Given the description of an element on the screen output the (x, y) to click on. 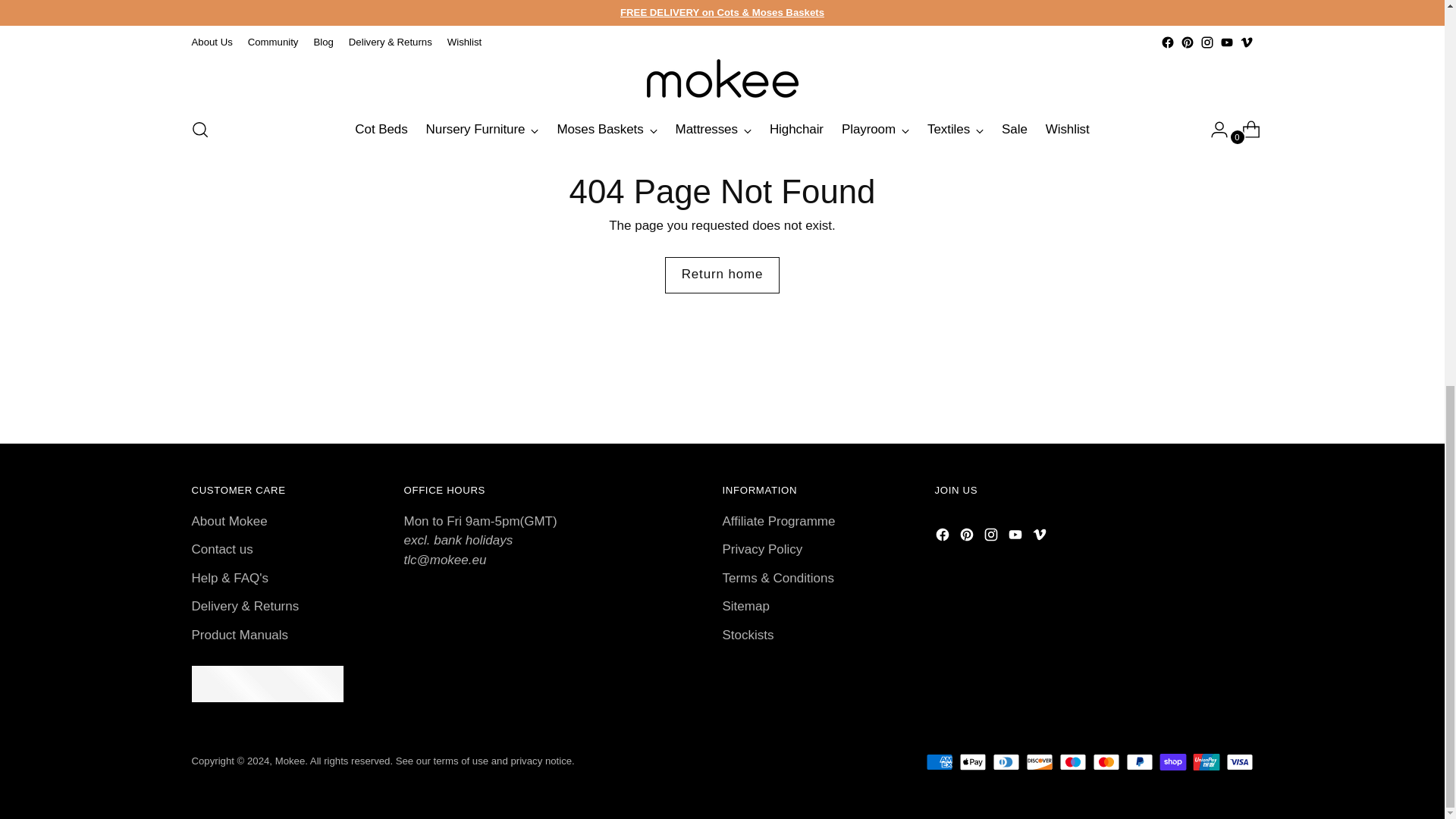
Moses Baskets (606, 129)
Mokee on Instagram (991, 537)
Mokee on Instagram (1205, 42)
Mokee on Pinterest (967, 537)
Mokee on YouTube (1226, 42)
Cot Beds (381, 129)
Mokee on YouTube (1016, 537)
Blog (323, 41)
Mokee on Pinterest (1186, 42)
Wishlist (463, 41)
Community (272, 41)
Mokee on Facebook (943, 537)
Mattresses (713, 129)
Mokee on Vimeo (1039, 537)
